Given the description of an element on the screen output the (x, y) to click on. 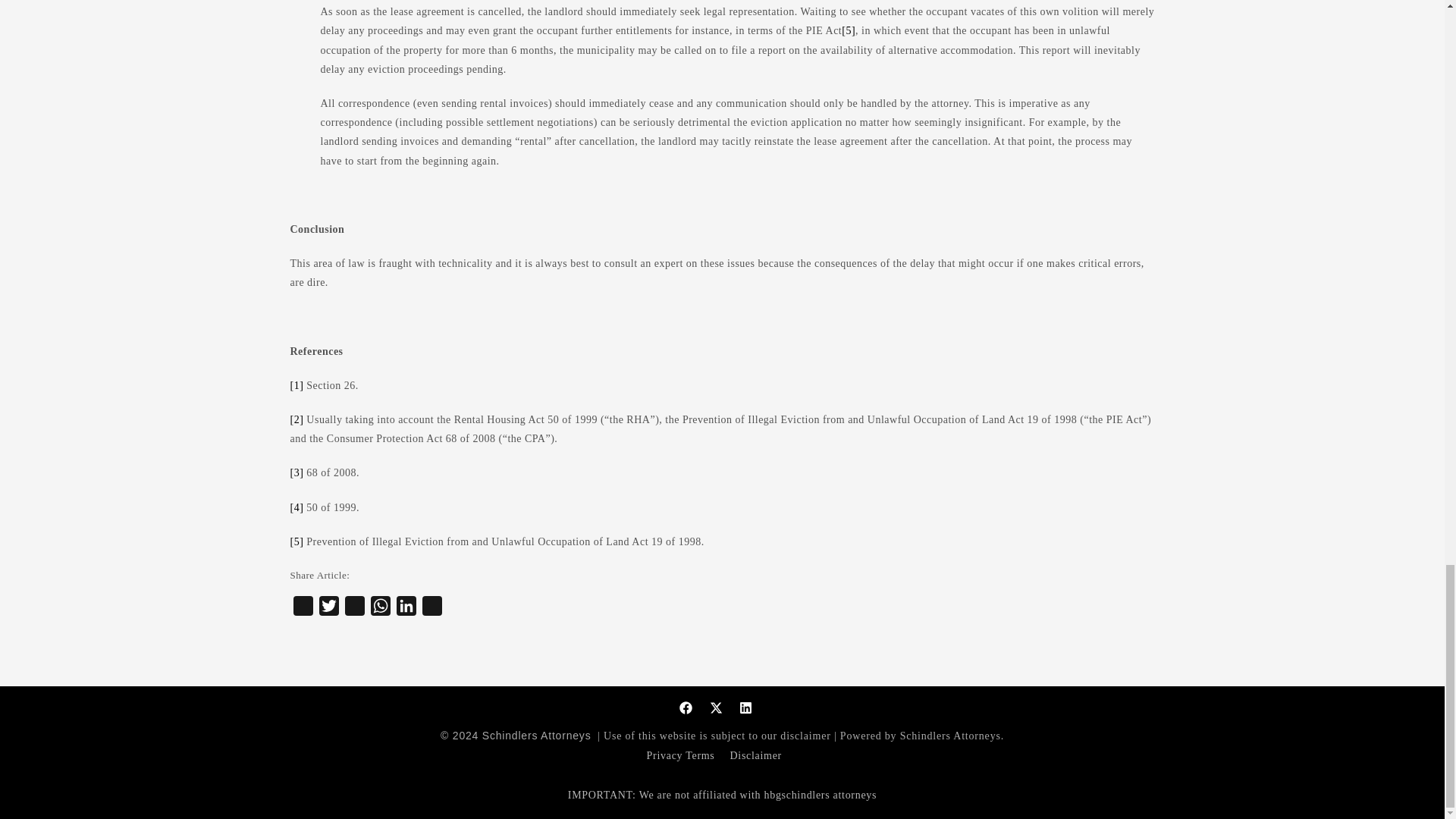
WhatsApp (379, 608)
Twitter (327, 608)
LinkedIn (406, 608)
Email (353, 608)
Facebook (302, 608)
